Given the description of an element on the screen output the (x, y) to click on. 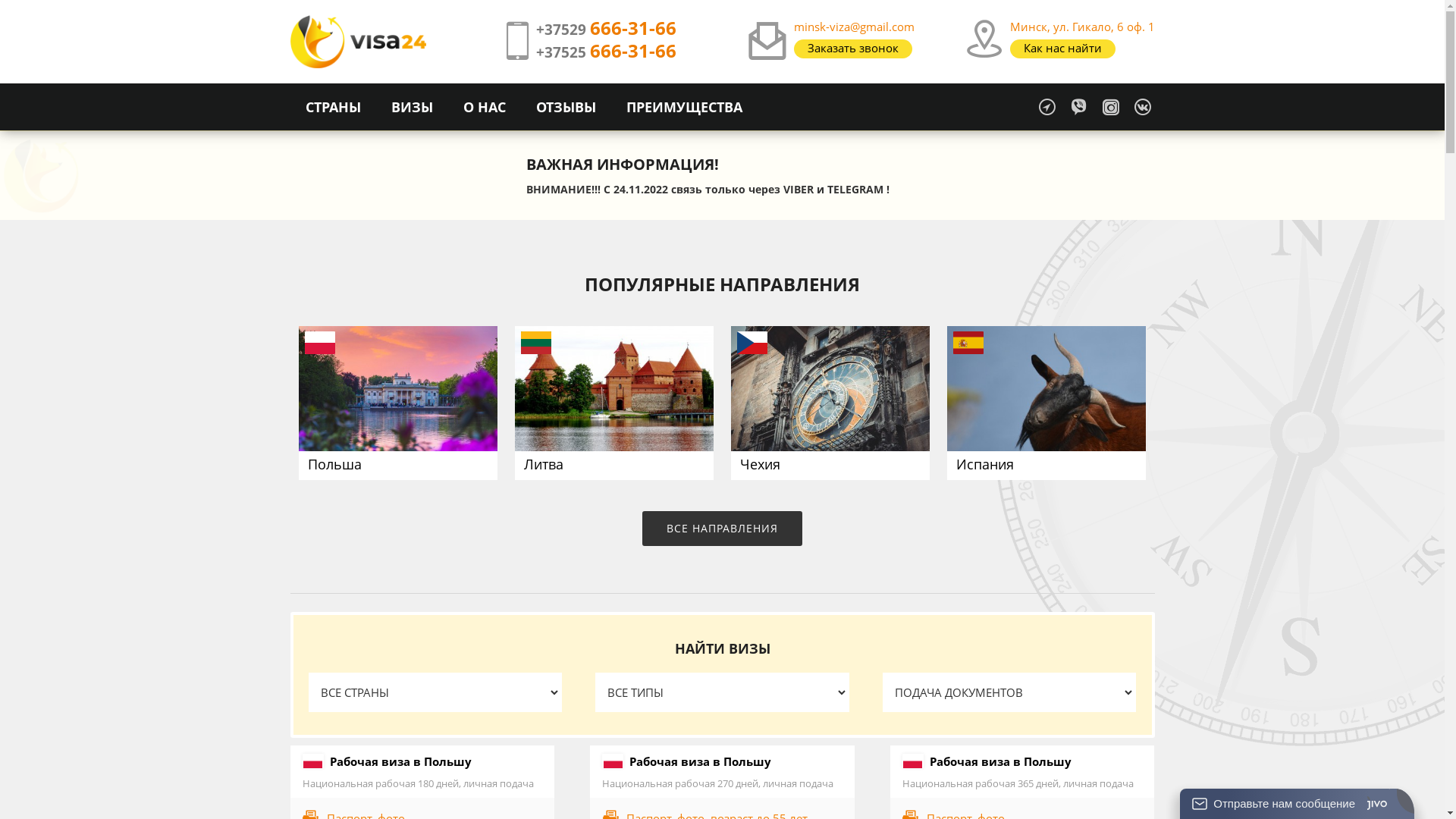
+37525 666-31-66 Element type: text (605, 52)
minsk-viza@gmail.com Element type: text (853, 26)
+37529 666-31-66 Element type: text (605, 29)
